Given the description of an element on the screen output the (x, y) to click on. 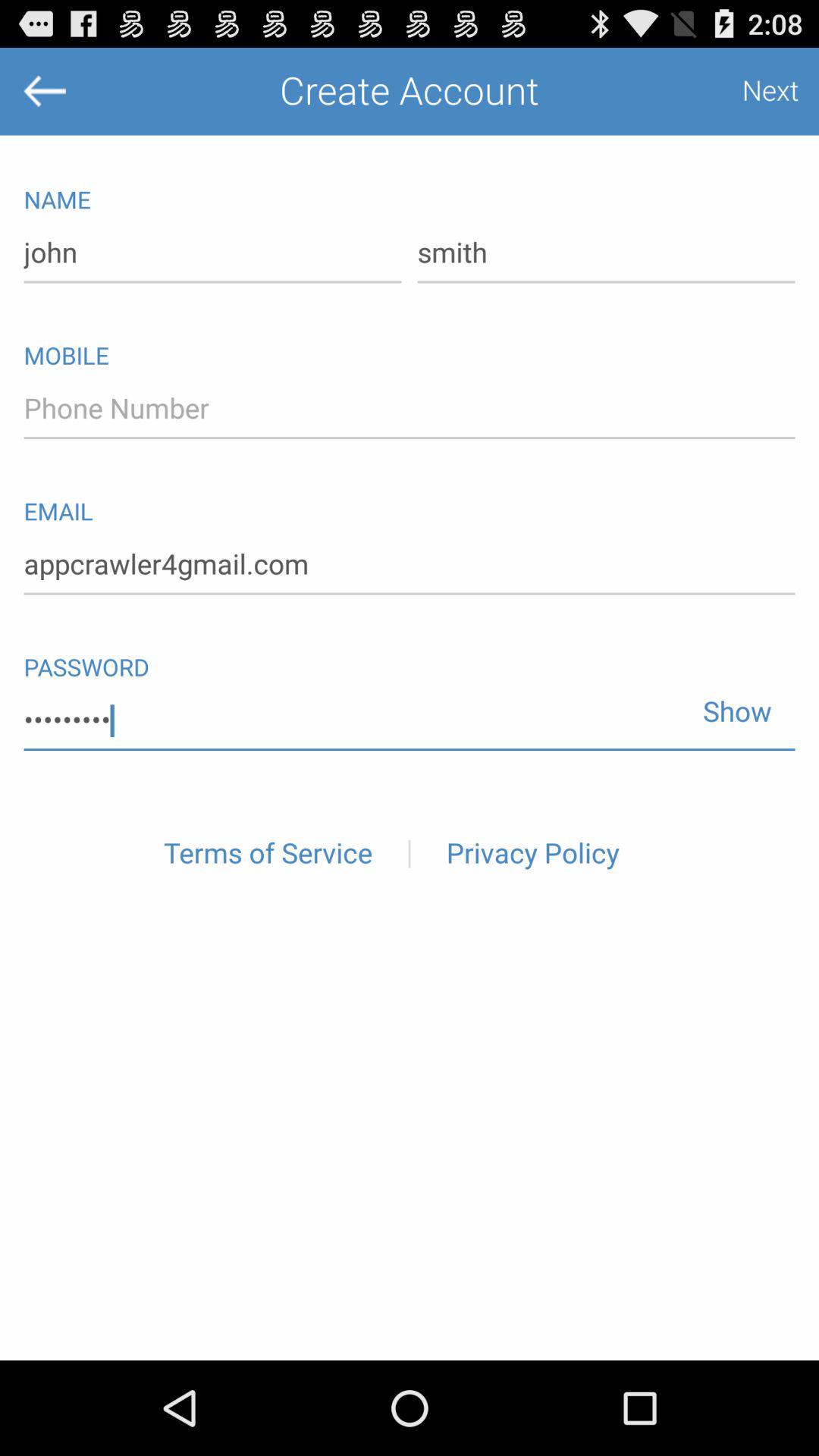
swipe until the next icon (755, 91)
